Given the description of an element on the screen output the (x, y) to click on. 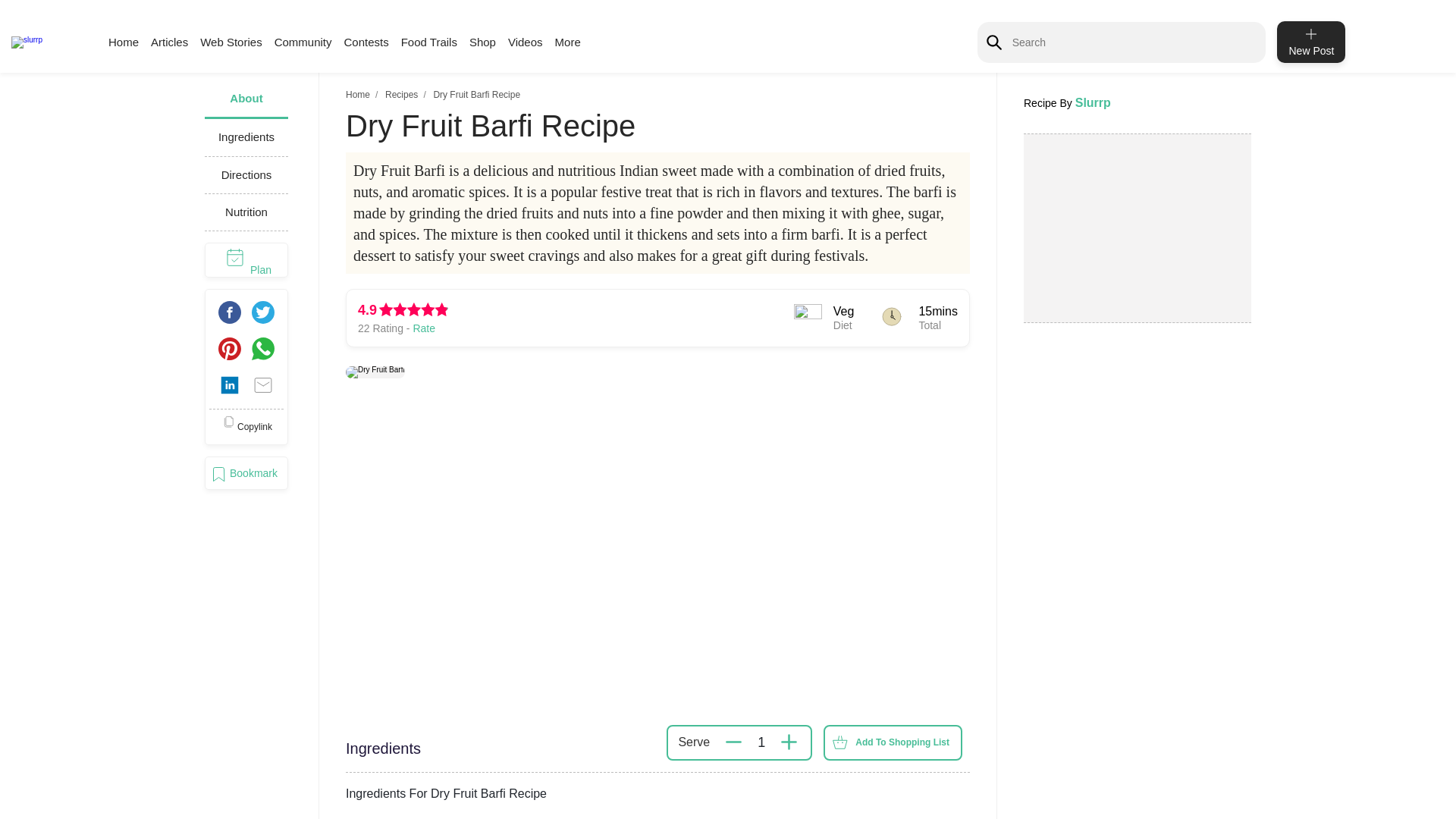
Home (122, 42)
Articles (169, 42)
Web Stories (231, 42)
Recipes (401, 94)
Videos (525, 42)
Home (357, 94)
copy link (246, 426)
Dry Fruit Barfi (375, 372)
Shop (482, 42)
Community (303, 42)
